Given the description of an element on the screen output the (x, y) to click on. 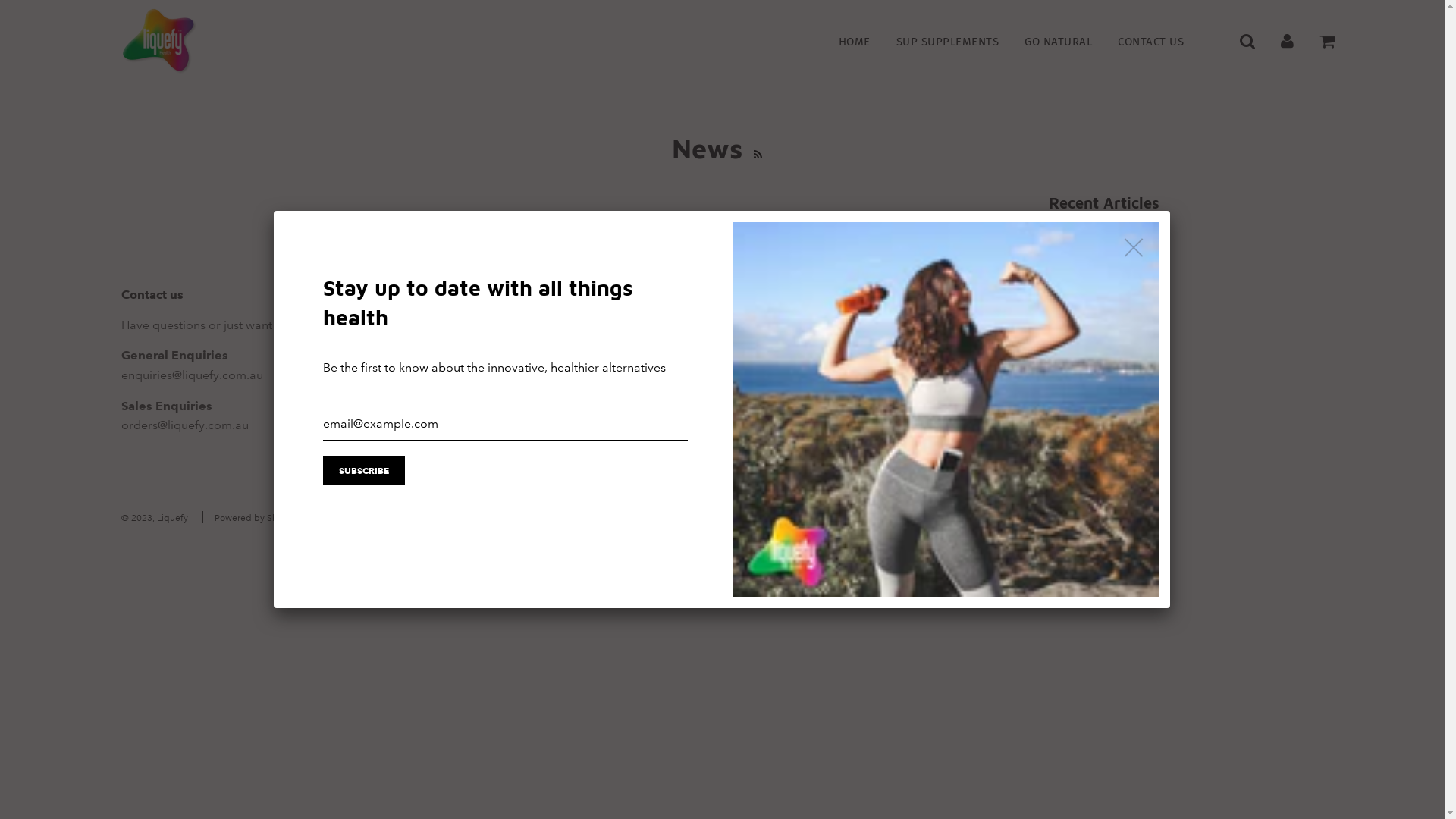
CONTACT US Element type: text (1144, 41)
Subscribe Element type: text (363, 470)
Search Element type: text (758, 324)
HOME Element type: text (853, 41)
Terms & Conditions Element type: text (793, 346)
SUP SUPPLEMENTS Element type: text (947, 41)
Privacy Policy Element type: text (776, 369)
Log in Element type: hover (1286, 40)
GO NATURAL Element type: text (1058, 41)
Powered by Shopify Element type: text (256, 518)
Shipping & Returns Element type: text (791, 392)
